Given the description of an element on the screen output the (x, y) to click on. 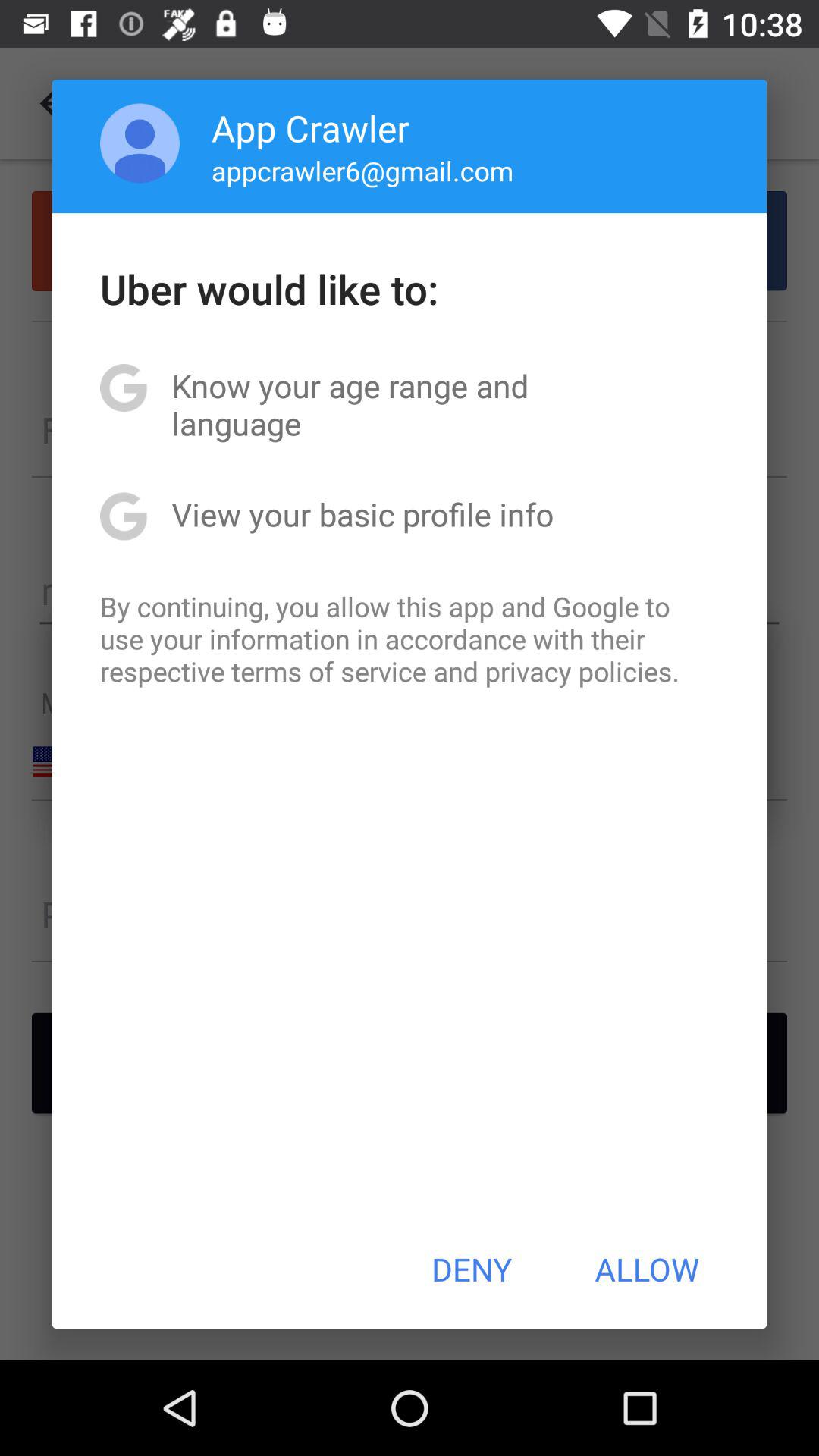
turn off deny at the bottom (471, 1268)
